Given the description of an element on the screen output the (x, y) to click on. 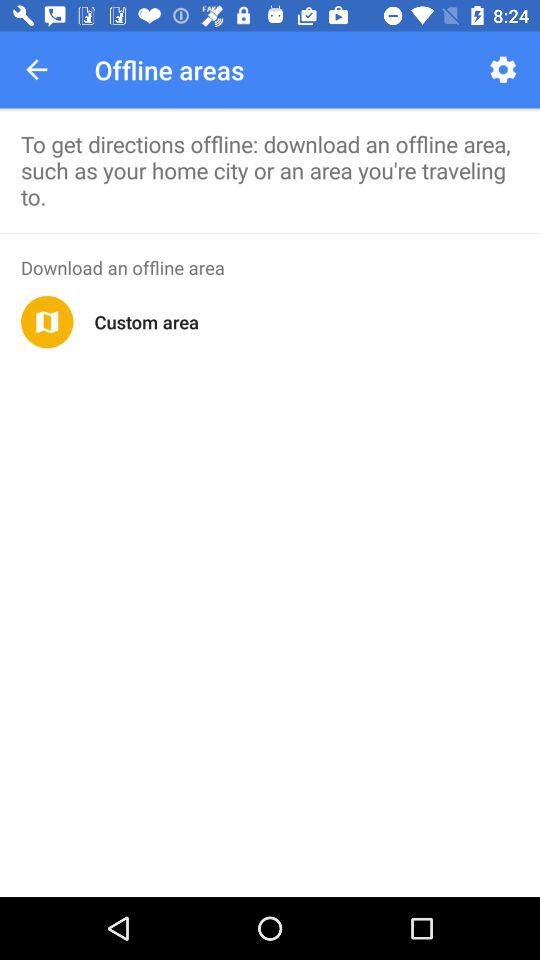
turn on custom area icon (146, 321)
